Given the description of an element on the screen output the (x, y) to click on. 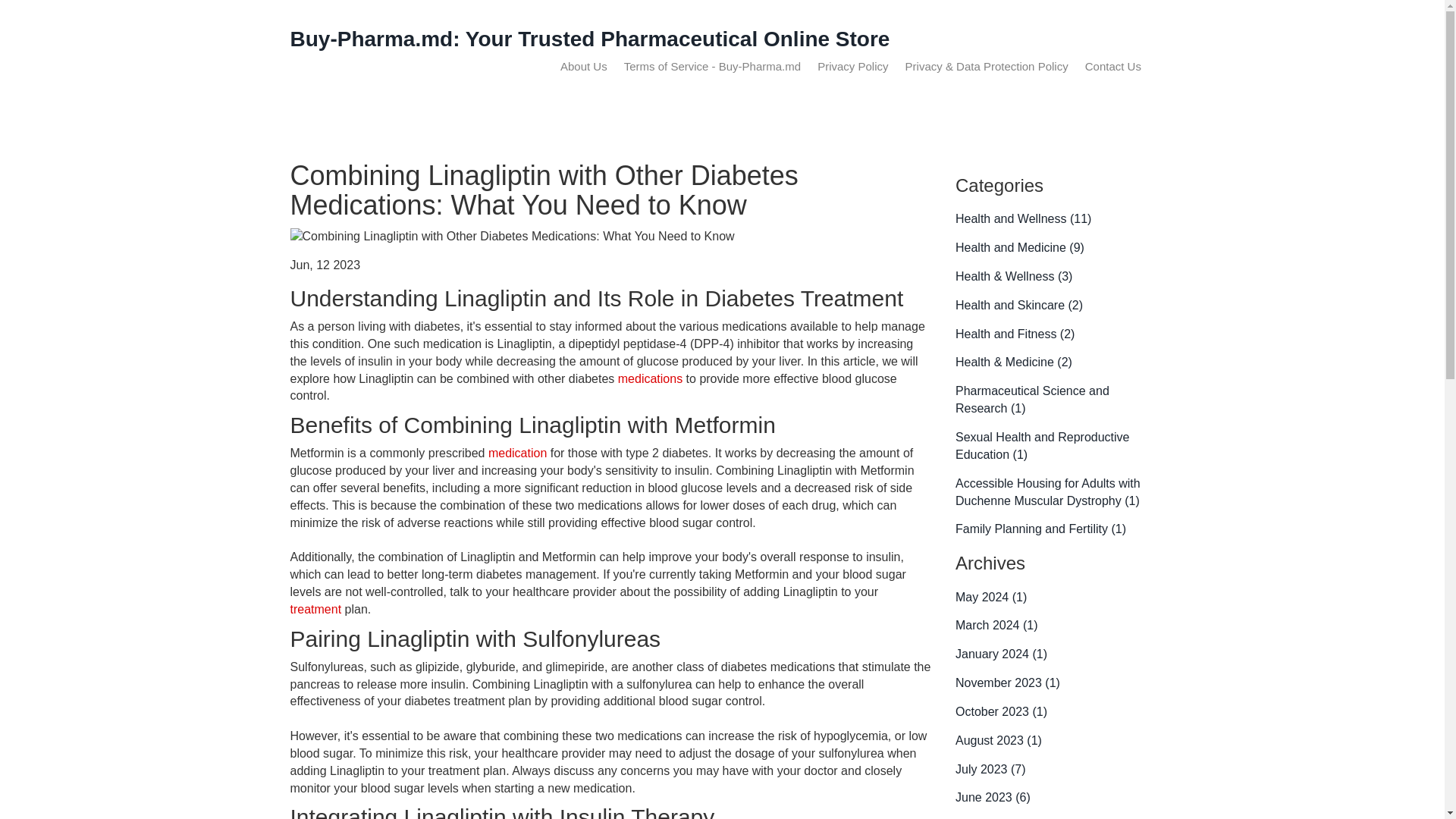
Evidence from Diabetes Treatment (649, 378)
medications (649, 378)
About Us (583, 65)
Privacy Policy (852, 65)
treatment (314, 608)
Buy-Pharma.md: Your Trusted Pharmaceutical Online Store (589, 38)
Terms of Service - Buy-Pharma.md (712, 65)
medication (517, 452)
Contact Us (1112, 65)
